Given the description of an element on the screen output the (x, y) to click on. 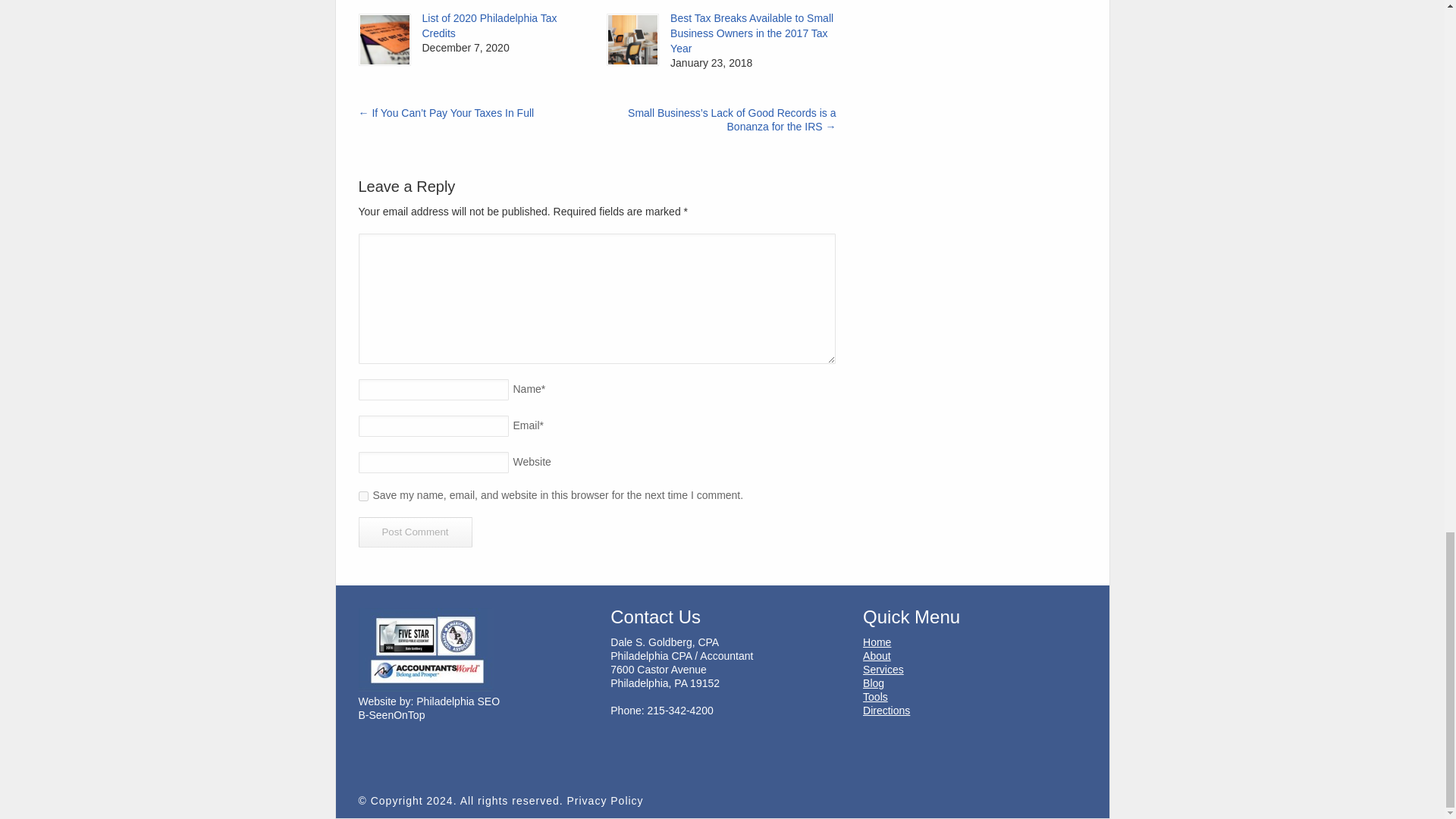
yes (363, 496)
Post Comment (414, 531)
